Given the description of an element on the screen output the (x, y) to click on. 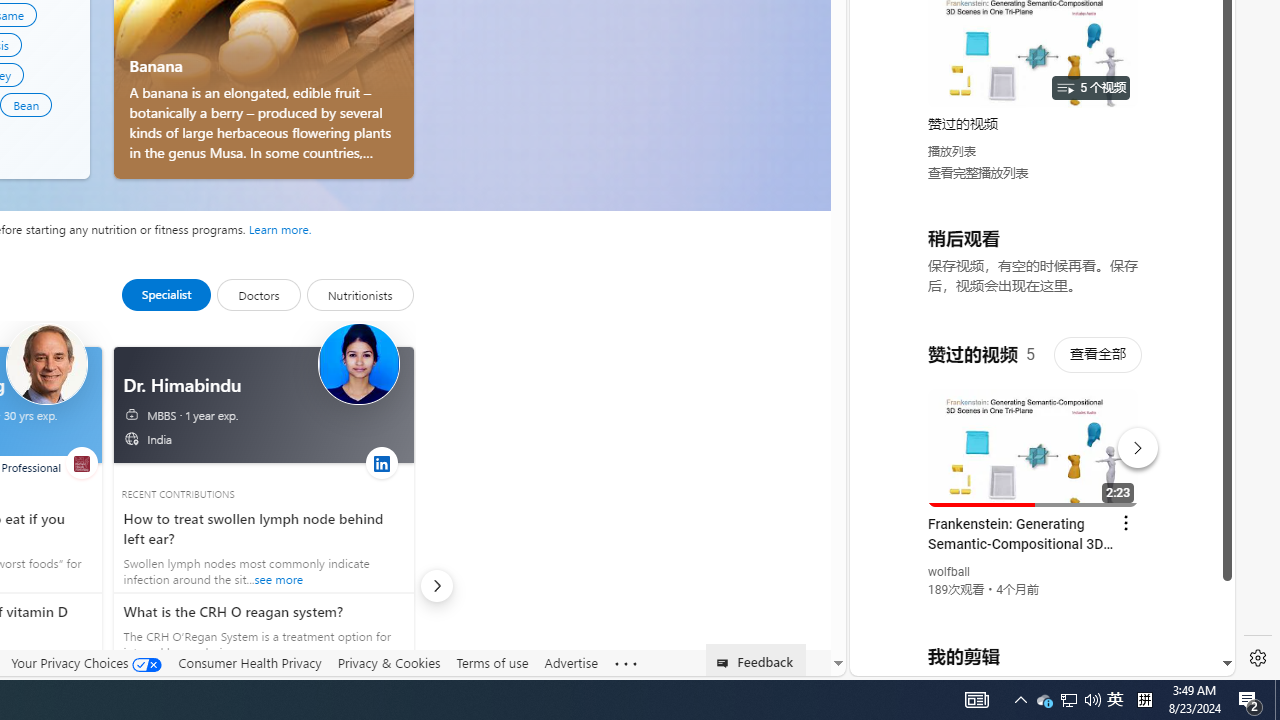
YouTube - YouTube (1034, 266)
See more (625, 664)
Feedback (756, 659)
next button (436, 585)
Consumer Health Privacy (249, 663)
Global web icon (888, 432)
Bean (26, 104)
Terms of use (491, 663)
see more (260, 632)
US[ju] (917, 660)
Class: vecOut (131, 438)
Privacy & Cookies (388, 663)
